Given the description of an element on the screen output the (x, y) to click on. 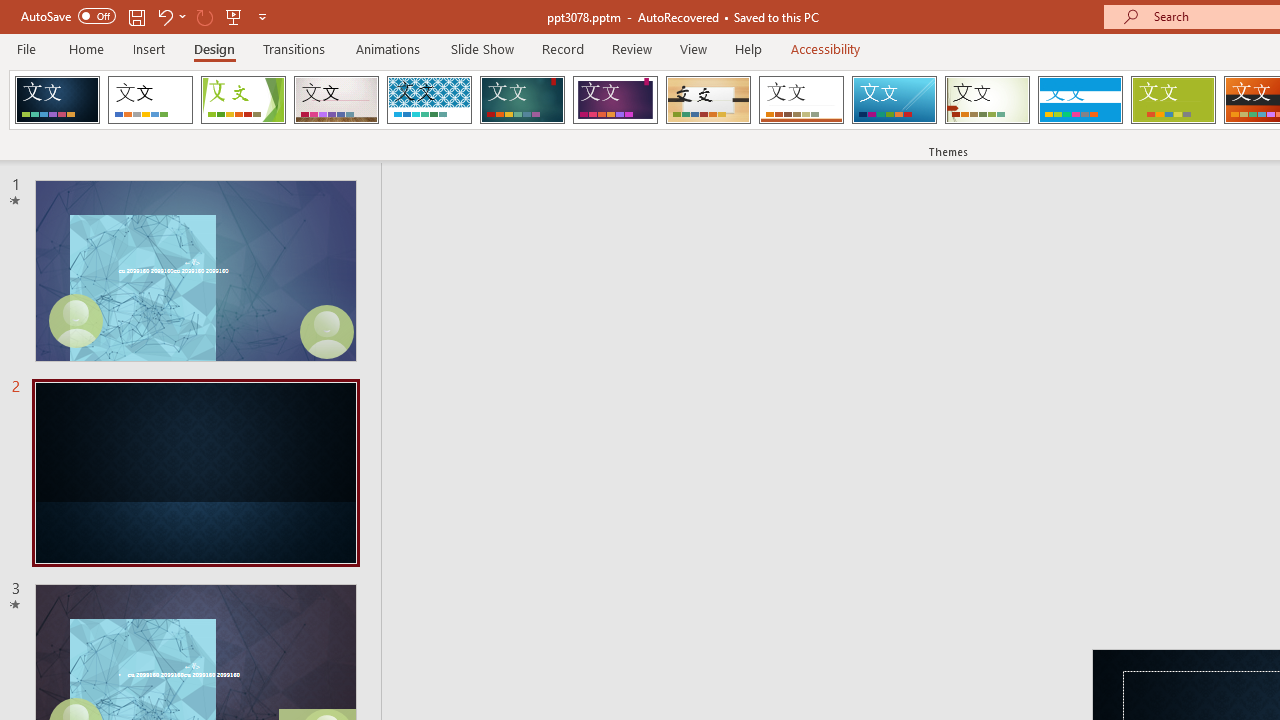
Integral (429, 100)
Basis (1172, 100)
